Given the description of an element on the screen output the (x, y) to click on. 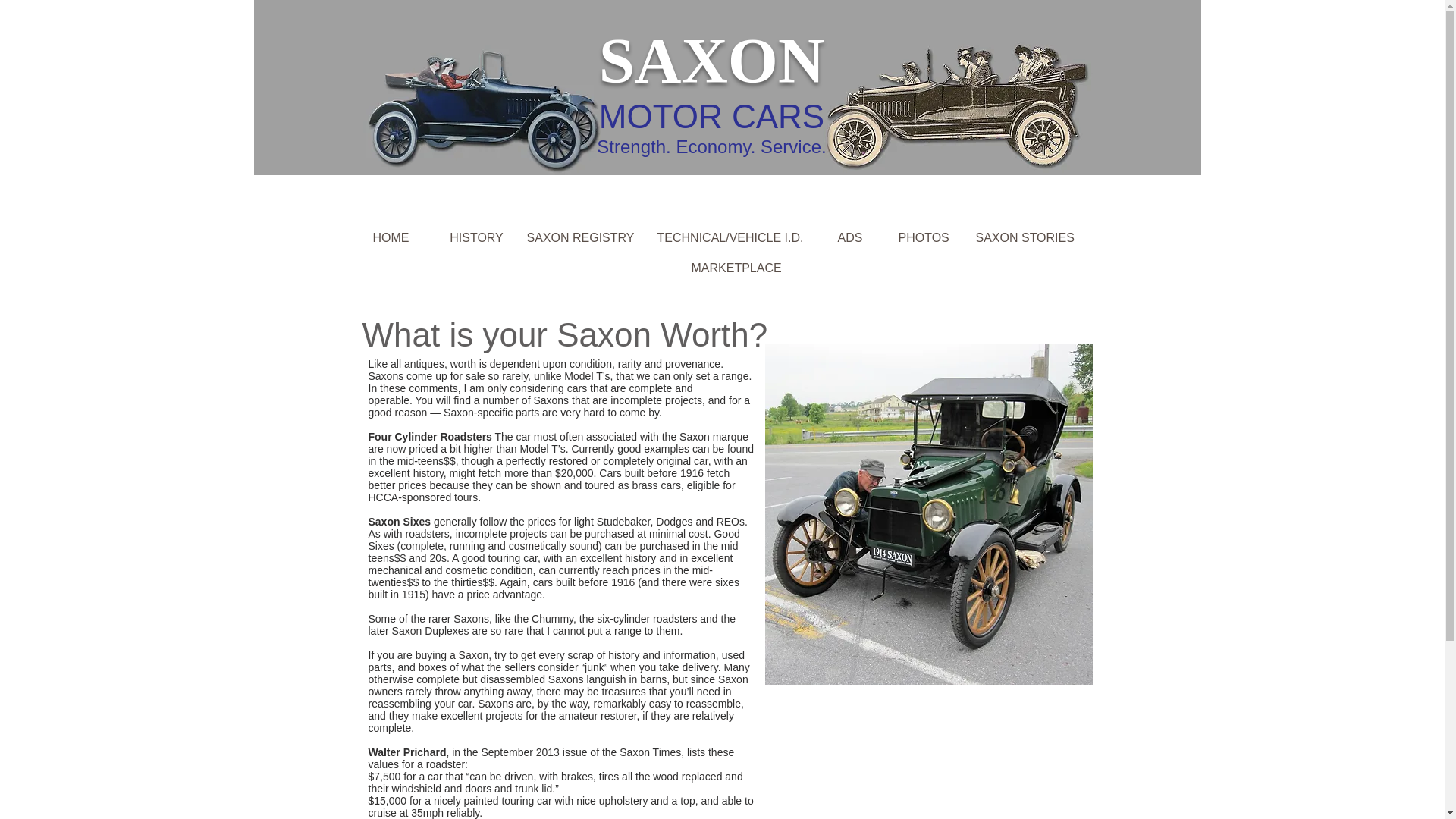
PHOTOS (923, 237)
MARKETPLACE (736, 268)
SAXON REGISTRY (579, 237)
HOME (390, 237)
SAXON STORIES (1024, 237)
HISTORY (476, 237)
